Given the description of an element on the screen output the (x, y) to click on. 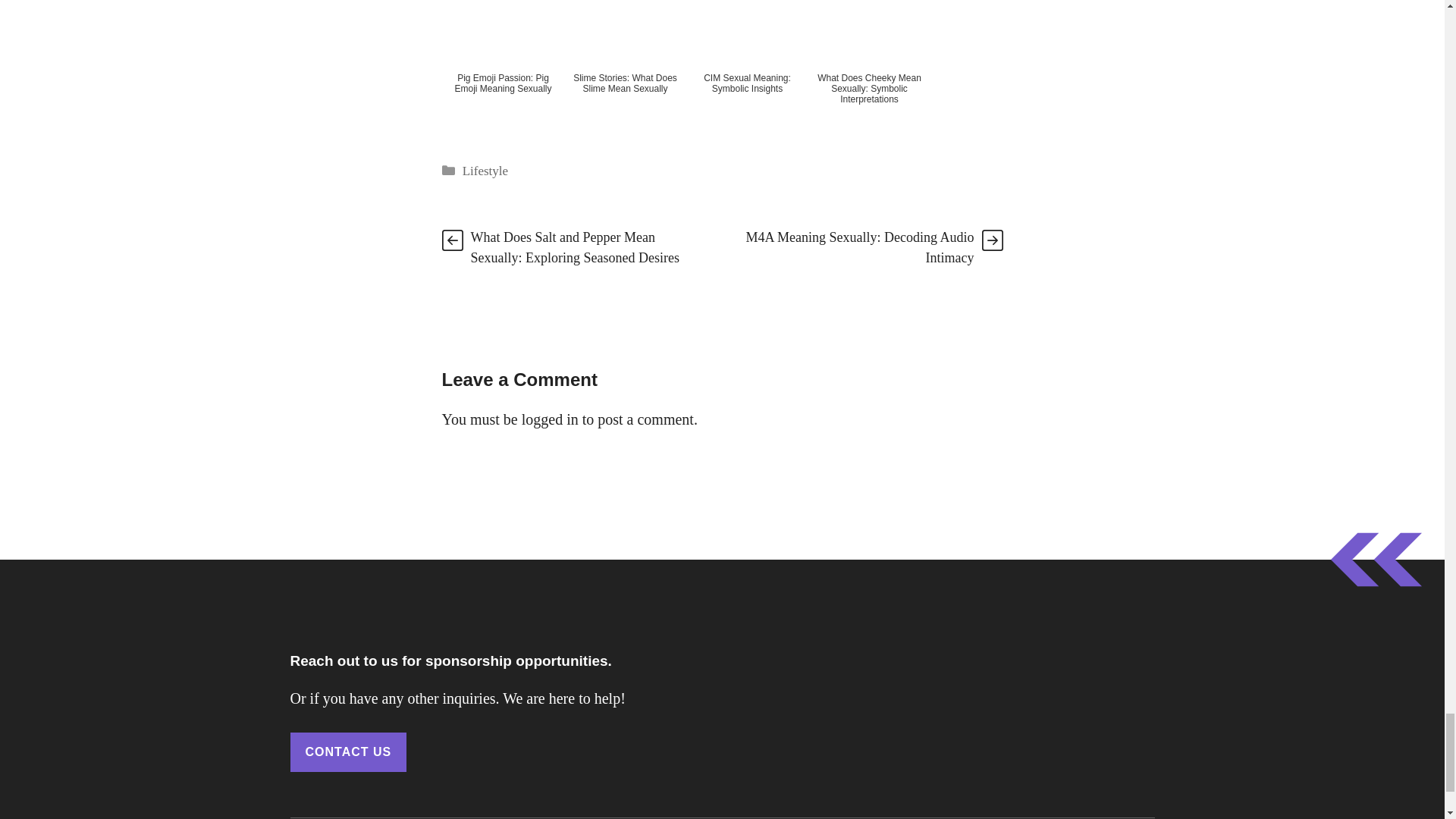
What Does Cheeky Mean Sexually: Symbolic Interpretations (869, 65)
Lifestyle (485, 170)
M4A Meaning Sexually: Decoding Audio Intimacy (859, 247)
Slime Stories: What Does Slime Mean Sexually (625, 65)
Pig Emoji Passion: Pig Emoji Meaning Sexually (502, 65)
CIM Sexual Meaning: Symbolic Insights (746, 65)
